Given the description of an element on the screen output the (x, y) to click on. 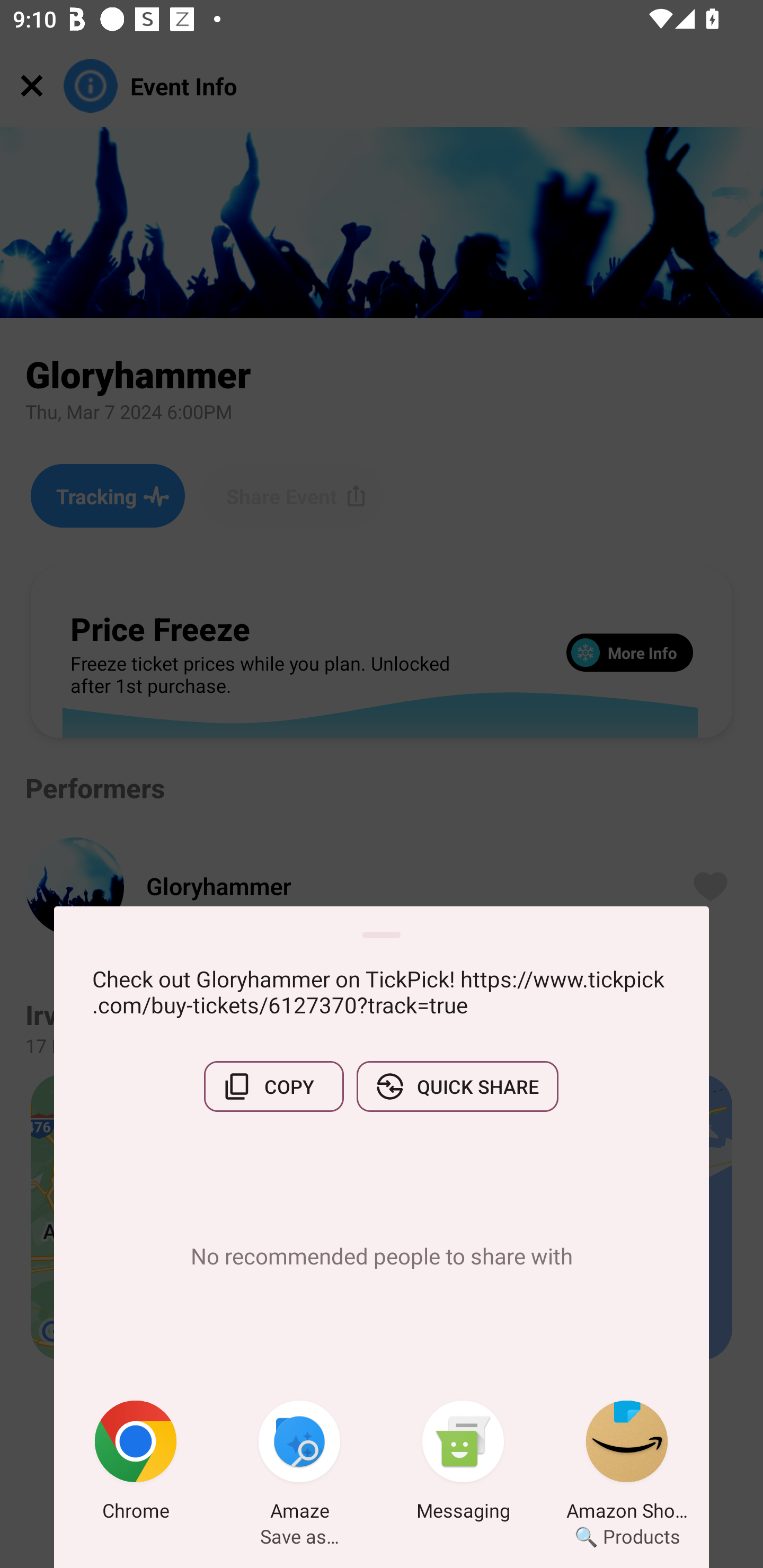
COPY (273, 1086)
QUICK SHARE (457, 1086)
Chrome (135, 1463)
Amaze Save as… (299, 1463)
Messaging (463, 1463)
Amazon Shopping 🔍 Products (626, 1463)
